Given the description of an element on the screen output the (x, y) to click on. 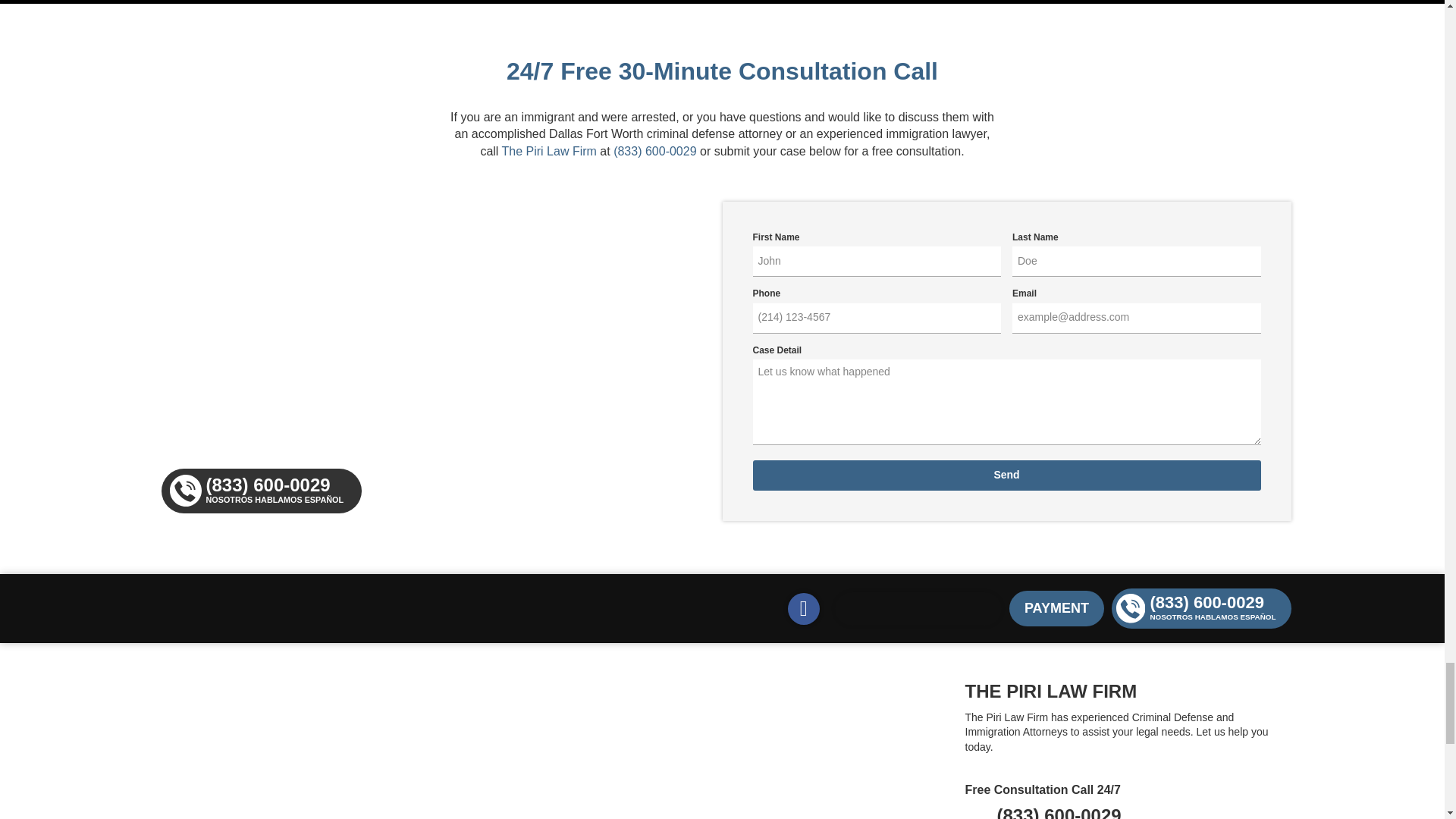
The Piri Law Firm, 2001 Ross Avenue, Dallas, TX (347, 749)
